Given the description of an element on the screen output the (x, y) to click on. 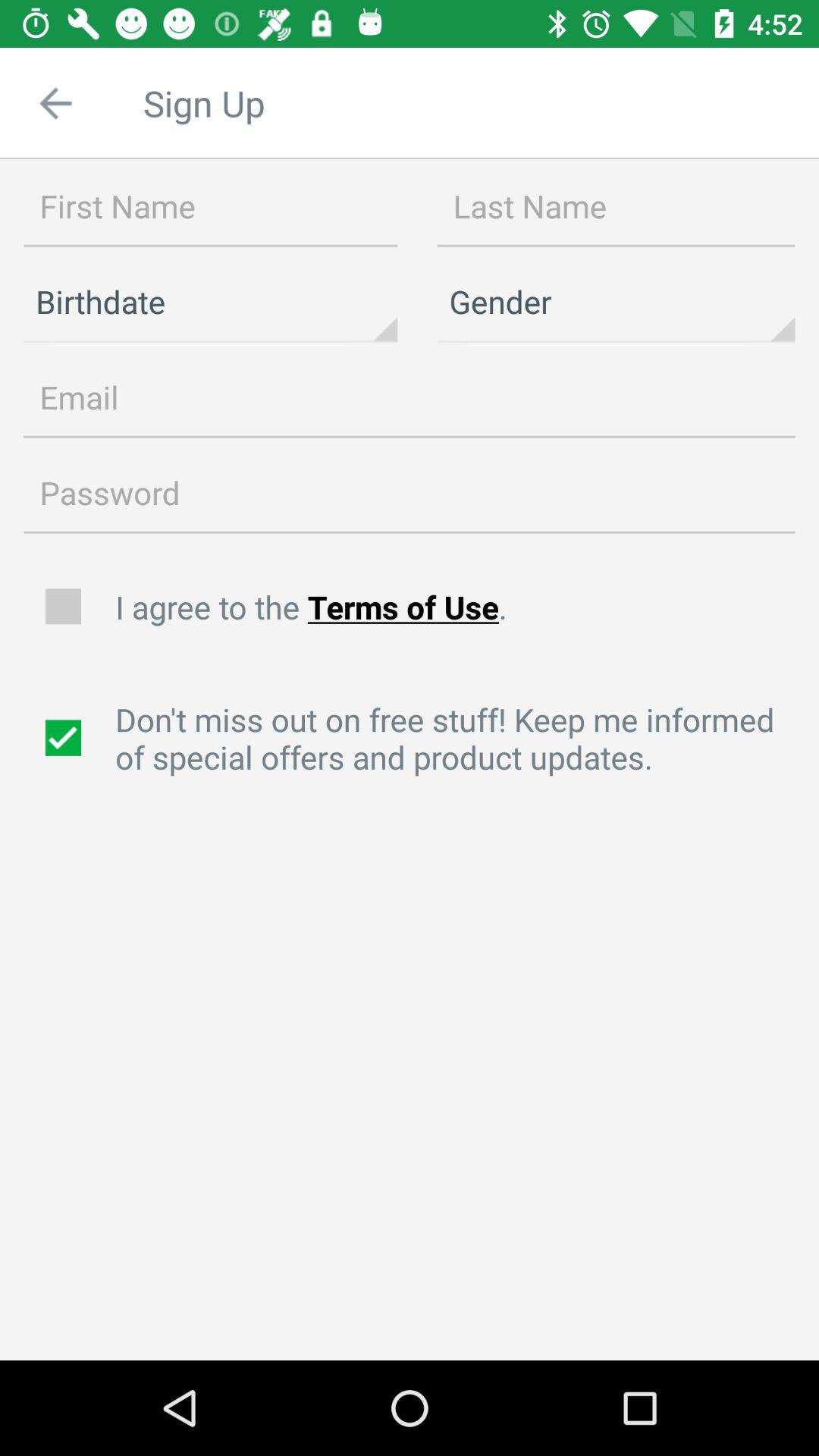
check box agree (65, 606)
